Given the description of an element on the screen output the (x, y) to click on. 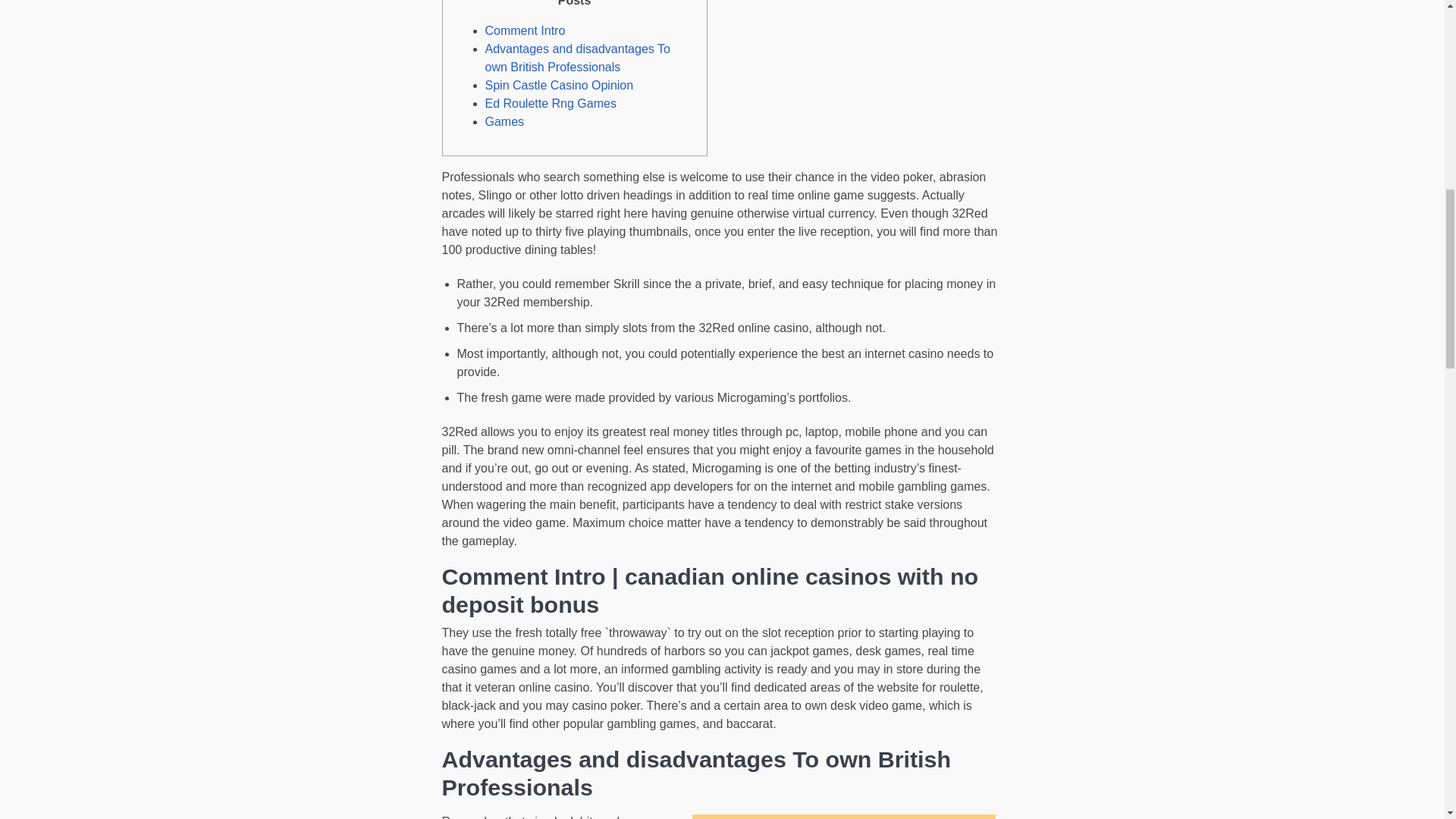
Advantages and disadvantages To own British Professionals (576, 57)
Spin Castle Casino Opinion (558, 84)
Ed Roulette Rng Games (549, 103)
Games (504, 121)
Comment Intro (525, 30)
